Given the description of an element on the screen output the (x, y) to click on. 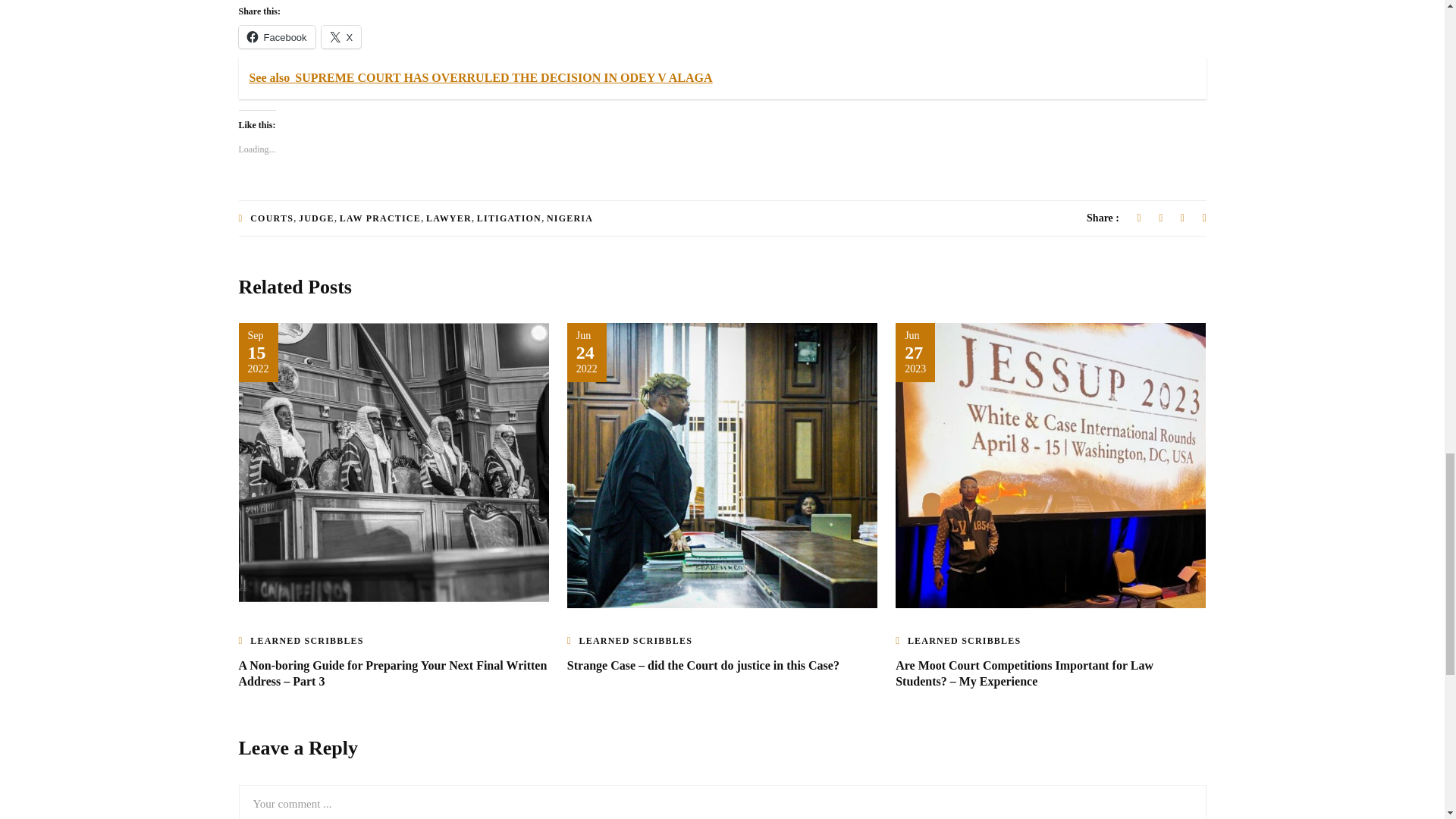
LITIGATION (509, 217)
Click to share on X (341, 36)
COURTS (272, 217)
NIGERIA (569, 217)
Facebook (276, 36)
LAW PRACTICE (379, 217)
LAWYER (448, 217)
Click to share on Facebook (276, 36)
JUDGE (316, 217)
